Given the description of an element on the screen output the (x, y) to click on. 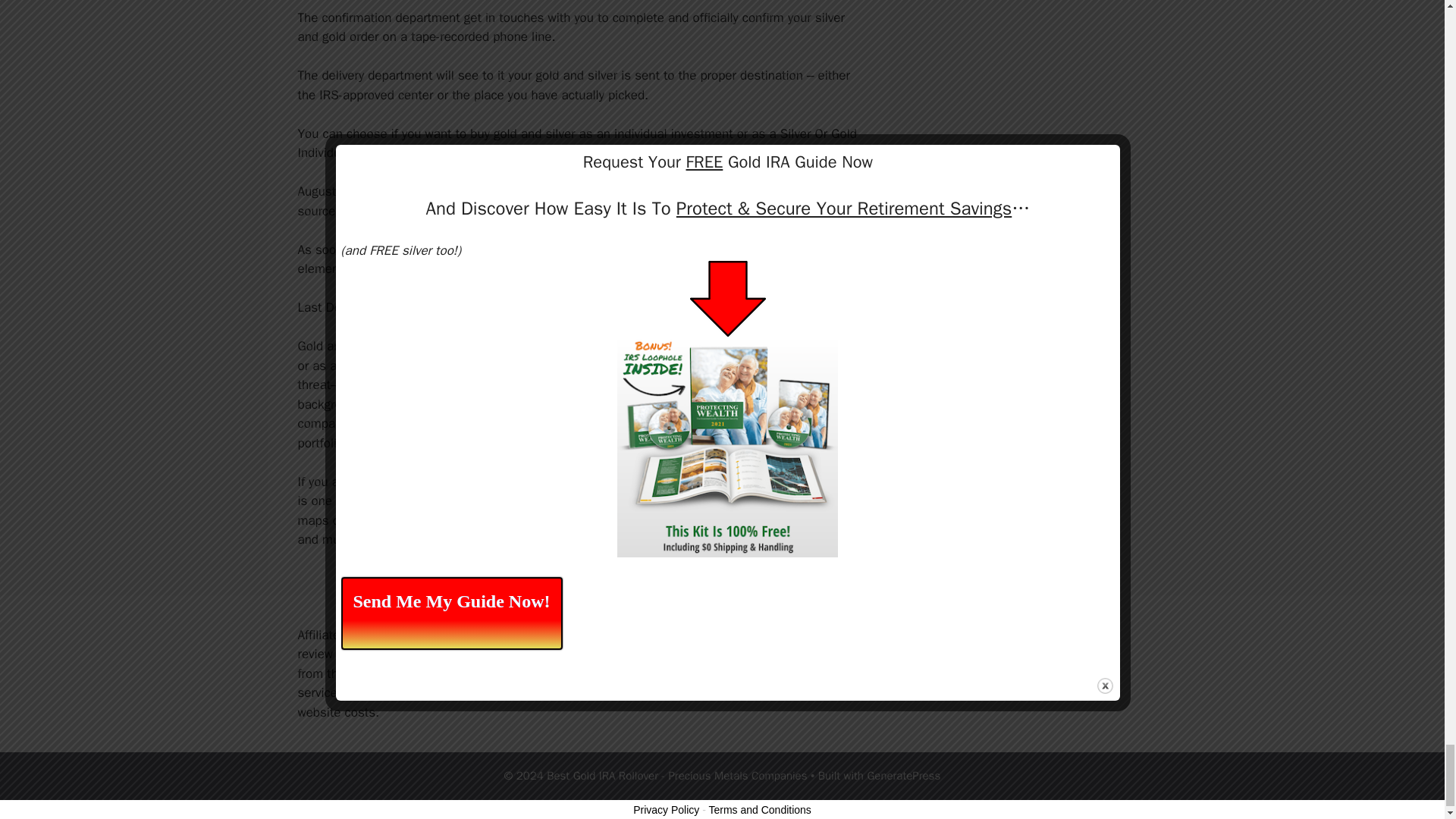
Privacy Policy (665, 809)
GeneratePress (903, 775)
Terms and Conditions (758, 809)
